Given the description of an element on the screen output the (x, y) to click on. 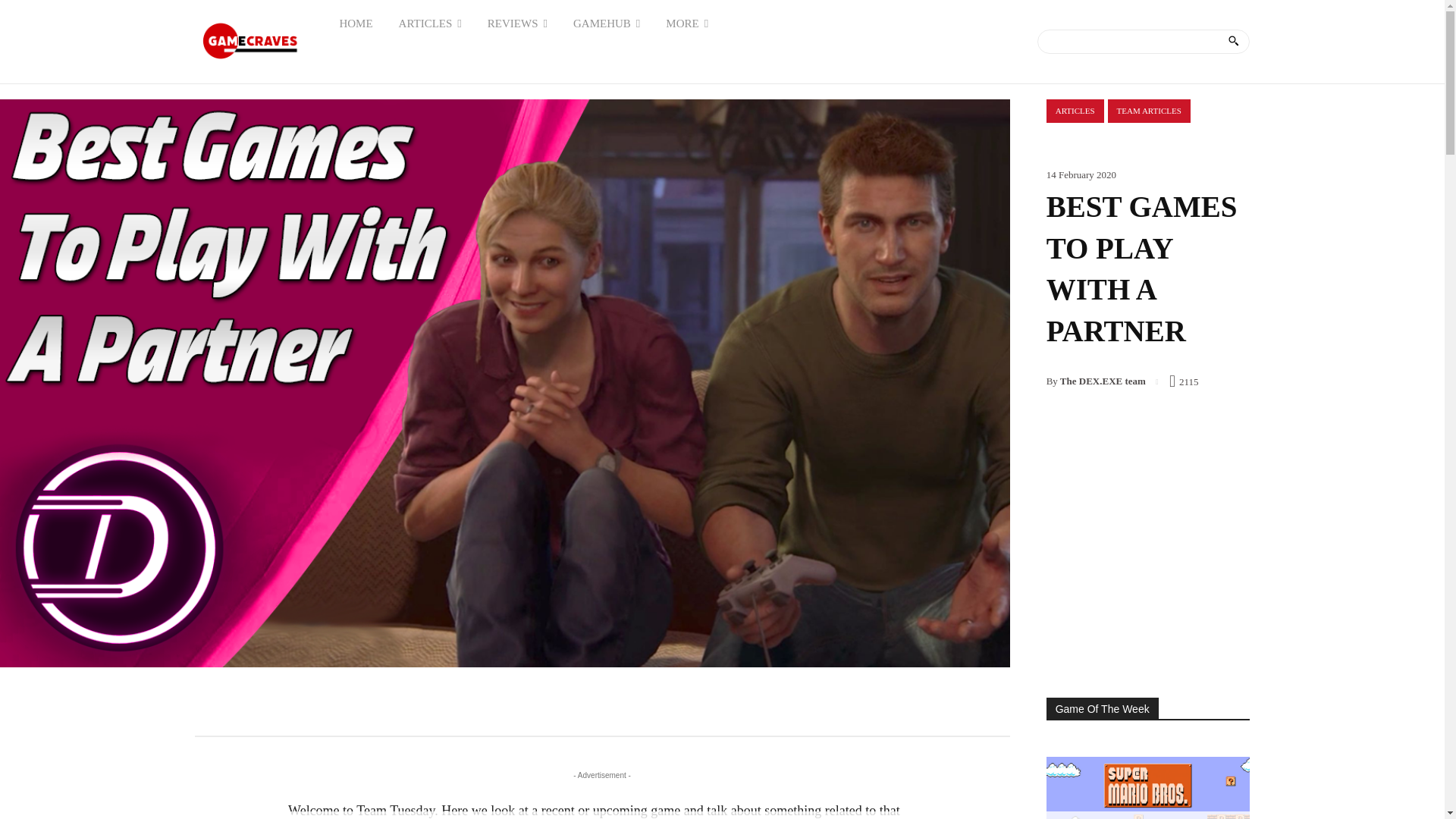
ARTICLES (429, 23)
HOME (355, 23)
